Given the description of an element on the screen output the (x, y) to click on. 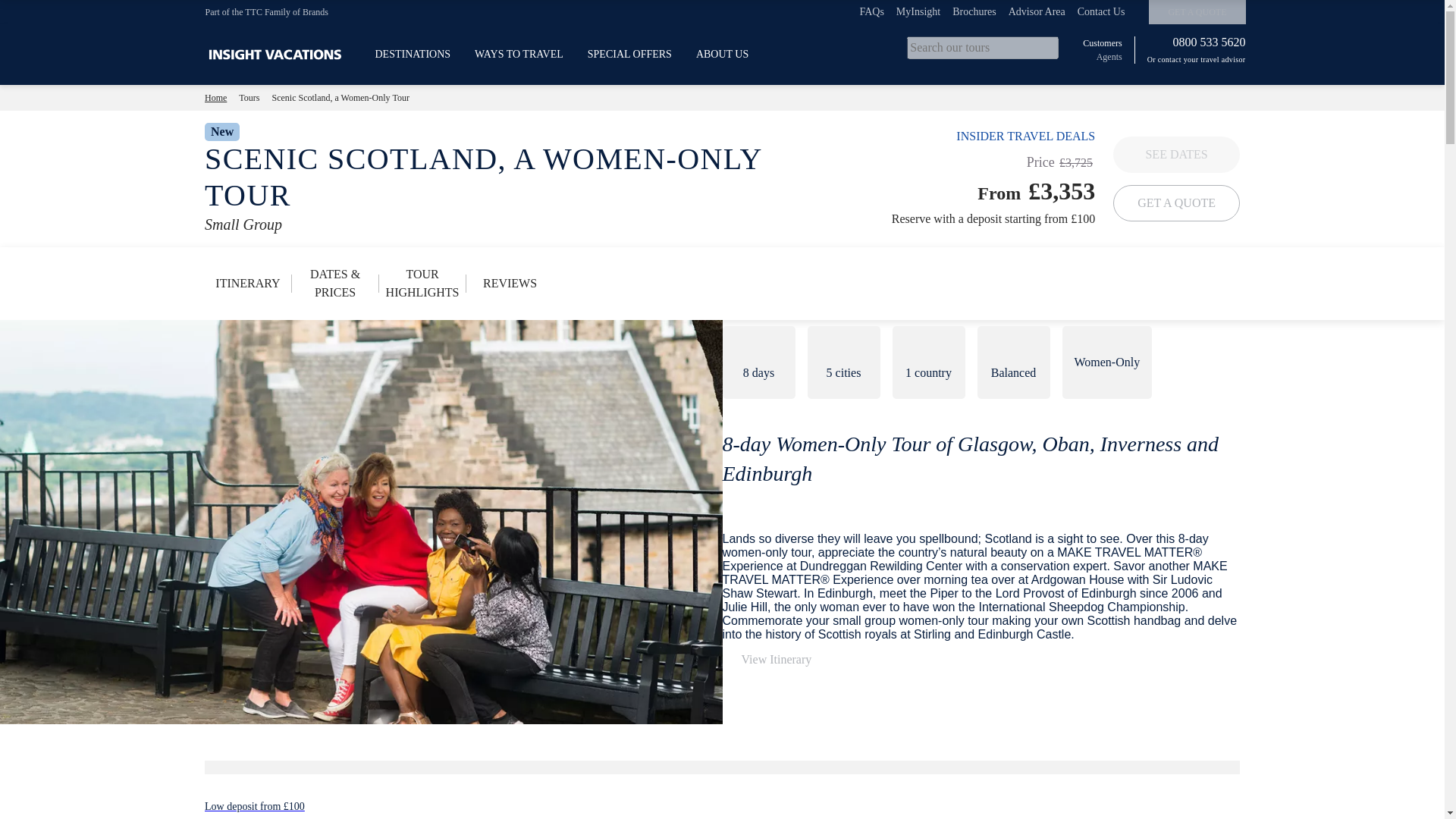
Brochures (973, 11)
FAQs (871, 11)
Home (216, 97)
Customers (1102, 42)
Brochures (973, 11)
GET A QUOTE (1196, 12)
FAQs (871, 11)
Contact Us (1101, 11)
0800 533 5620 (1205, 43)
Advisor Area (1037, 11)
